Given the description of an element on the screen output the (x, y) to click on. 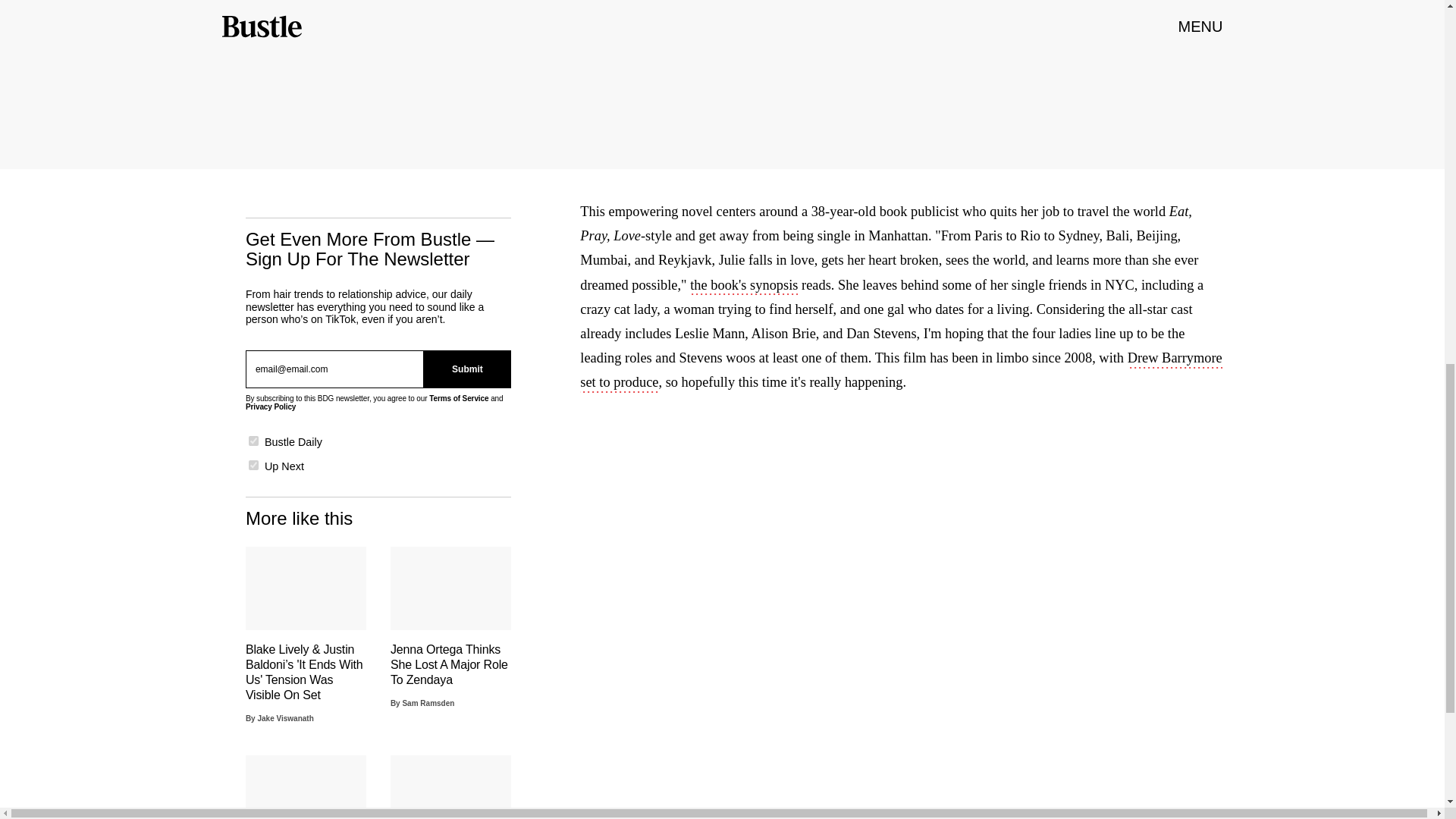
Privacy Policy (270, 406)
the book's synopsis (743, 286)
Submit (467, 368)
Terms of Service (458, 397)
Drew Barrymore set to produce (900, 371)
Sigourney Weaver Defends Her Most Hated Alien Movie (306, 787)
